Given the description of an element on the screen output the (x, y) to click on. 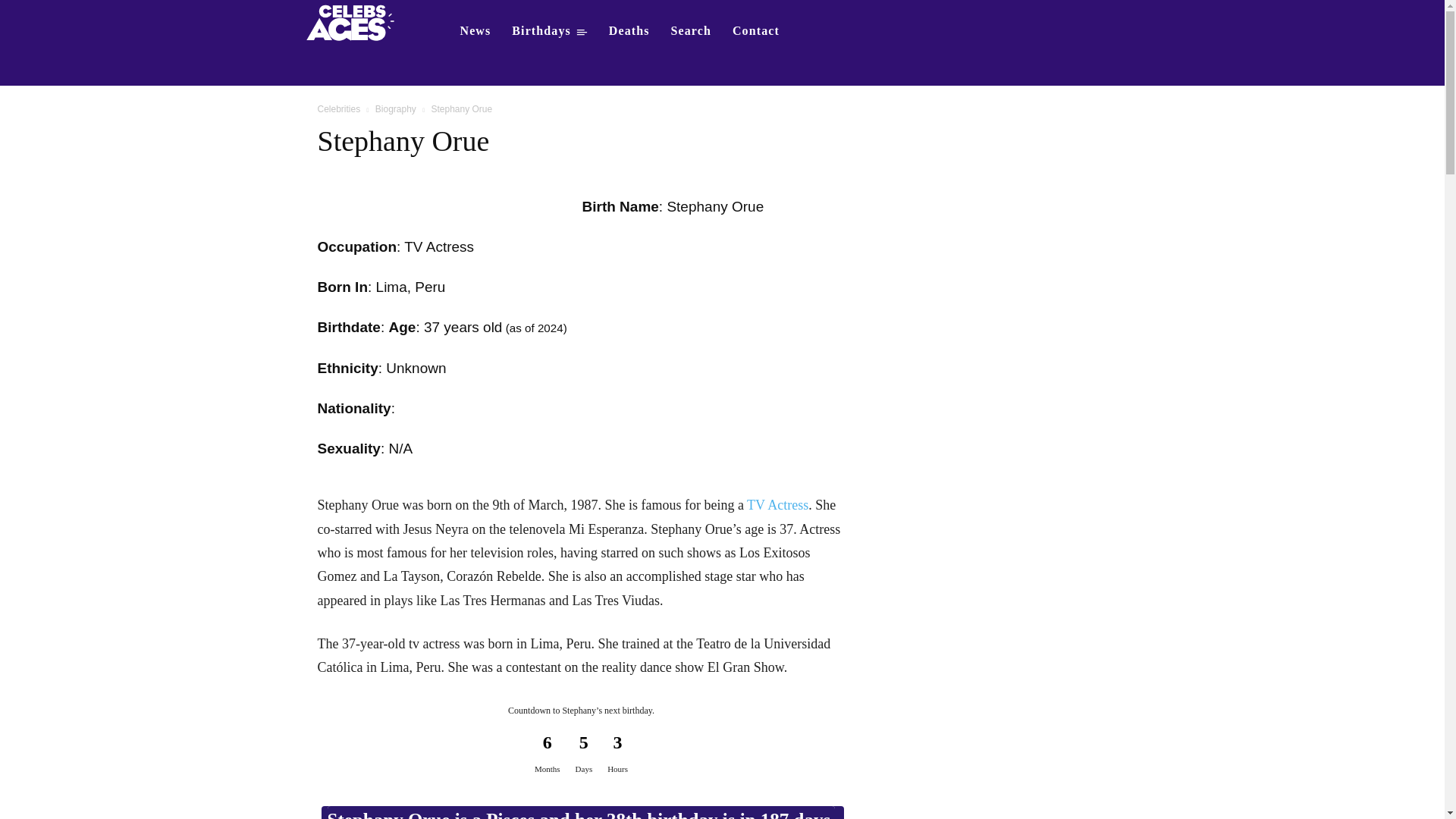
Celebs News (474, 31)
News (474, 31)
Contact (756, 31)
Deaths (629, 31)
Birthdays (548, 31)
Search (691, 31)
Who is dating who (354, 21)
TV Actress (777, 504)
Biography (395, 109)
Celebrities (338, 109)
